Given the description of an element on the screen output the (x, y) to click on. 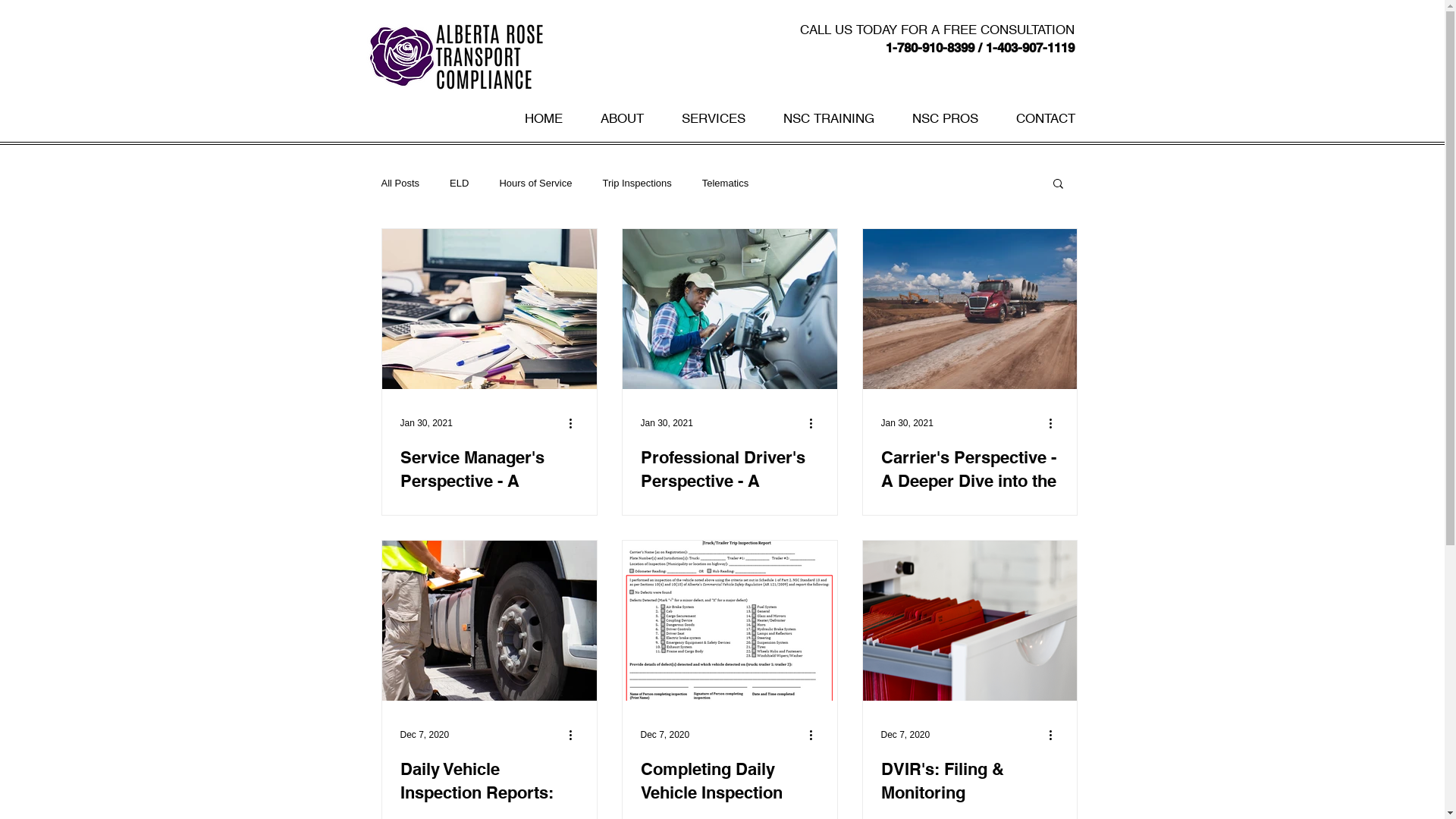
NSC TRAINING Element type: text (828, 117)
Telematics Element type: text (725, 182)
Hours of Service Element type: text (534, 182)
SERVICES Element type: text (713, 117)
NSC PROS Element type: text (945, 117)
ELD Element type: text (458, 182)
CONTACT Element type: text (1044, 117)
All Posts Element type: text (399, 182)
ABOUT Element type: text (621, 117)
DVIR's: Filing & Monitoring Element type: text (969, 780)
HOME Element type: text (542, 117)
Trip Inspections Element type: text (636, 182)
